Given the description of an element on the screen output the (x, y) to click on. 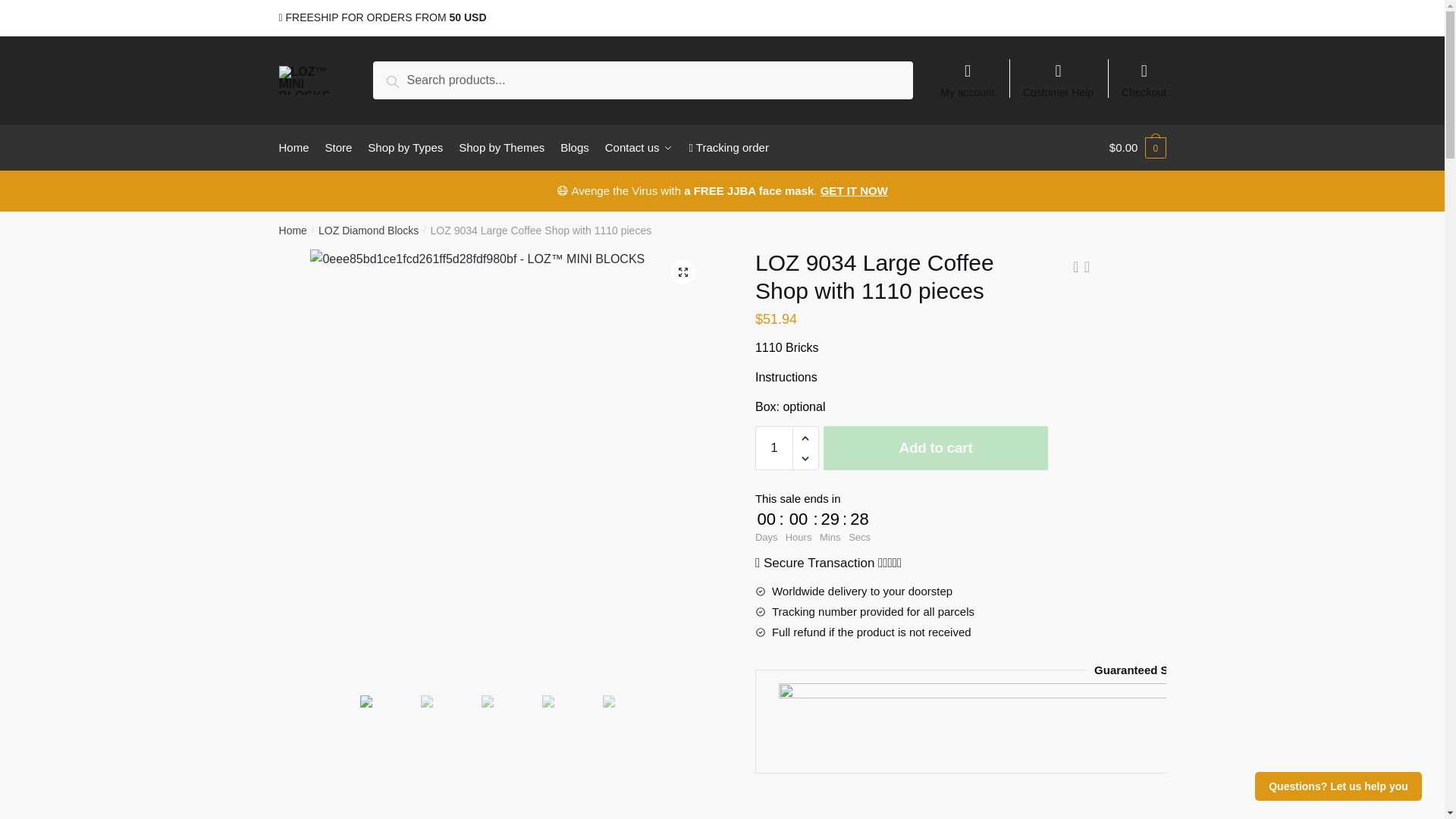
My account (967, 73)
Store (338, 147)
LOZ Diamond Blocks (368, 230)
Shop by Types (405, 147)
GET IT NOW (854, 190)
View your shopping cart (1137, 147)
Search (410, 78)
Customer Help (1058, 73)
Checkout (1144, 73)
Blogs (574, 147)
Shop by Themes (501, 147)
Contact us (637, 147)
Home (293, 230)
